Given the description of an element on the screen output the (x, y) to click on. 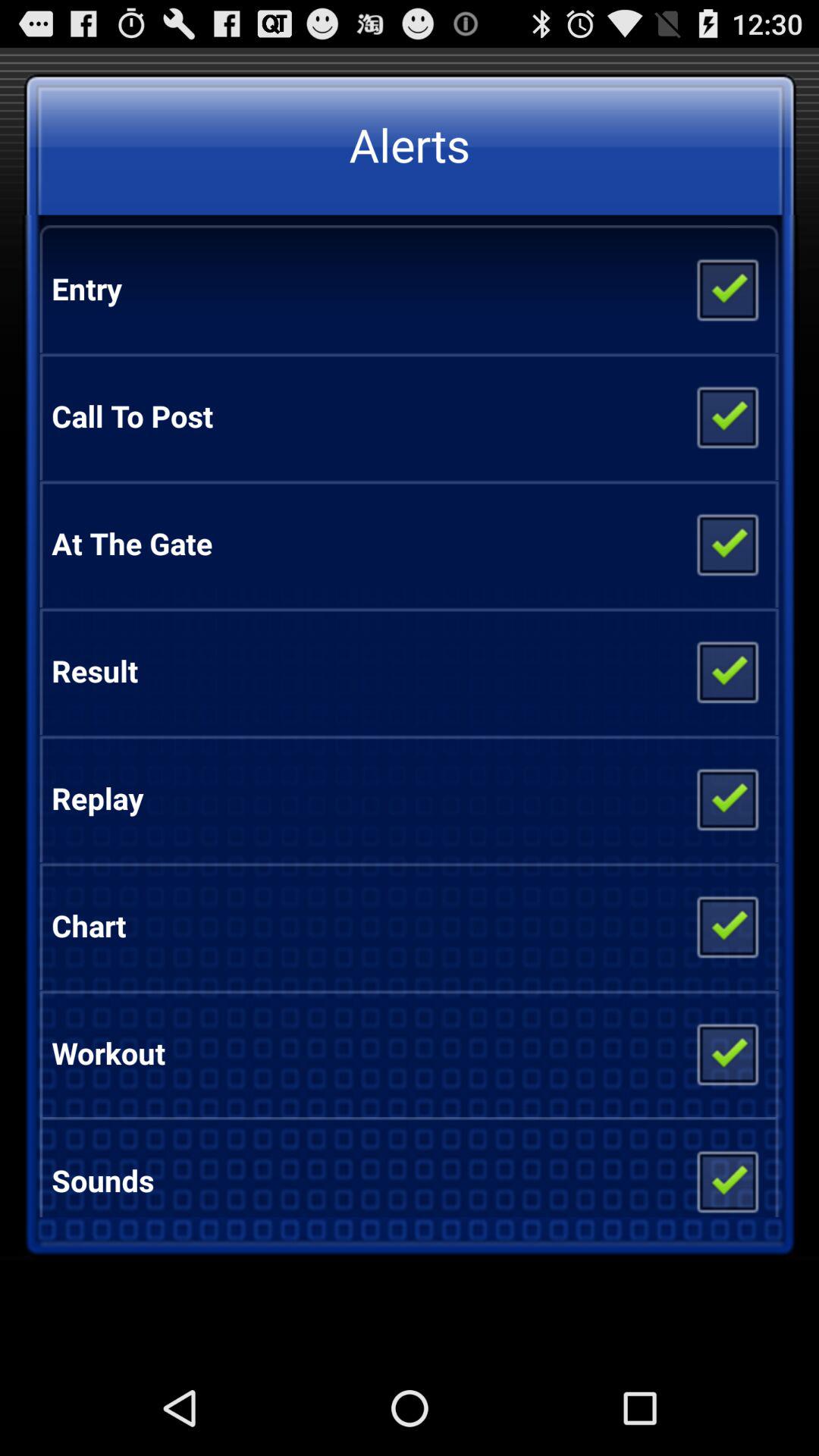
toggles whether to get alerts concering workouts (726, 1053)
